Given the description of an element on the screen output the (x, y) to click on. 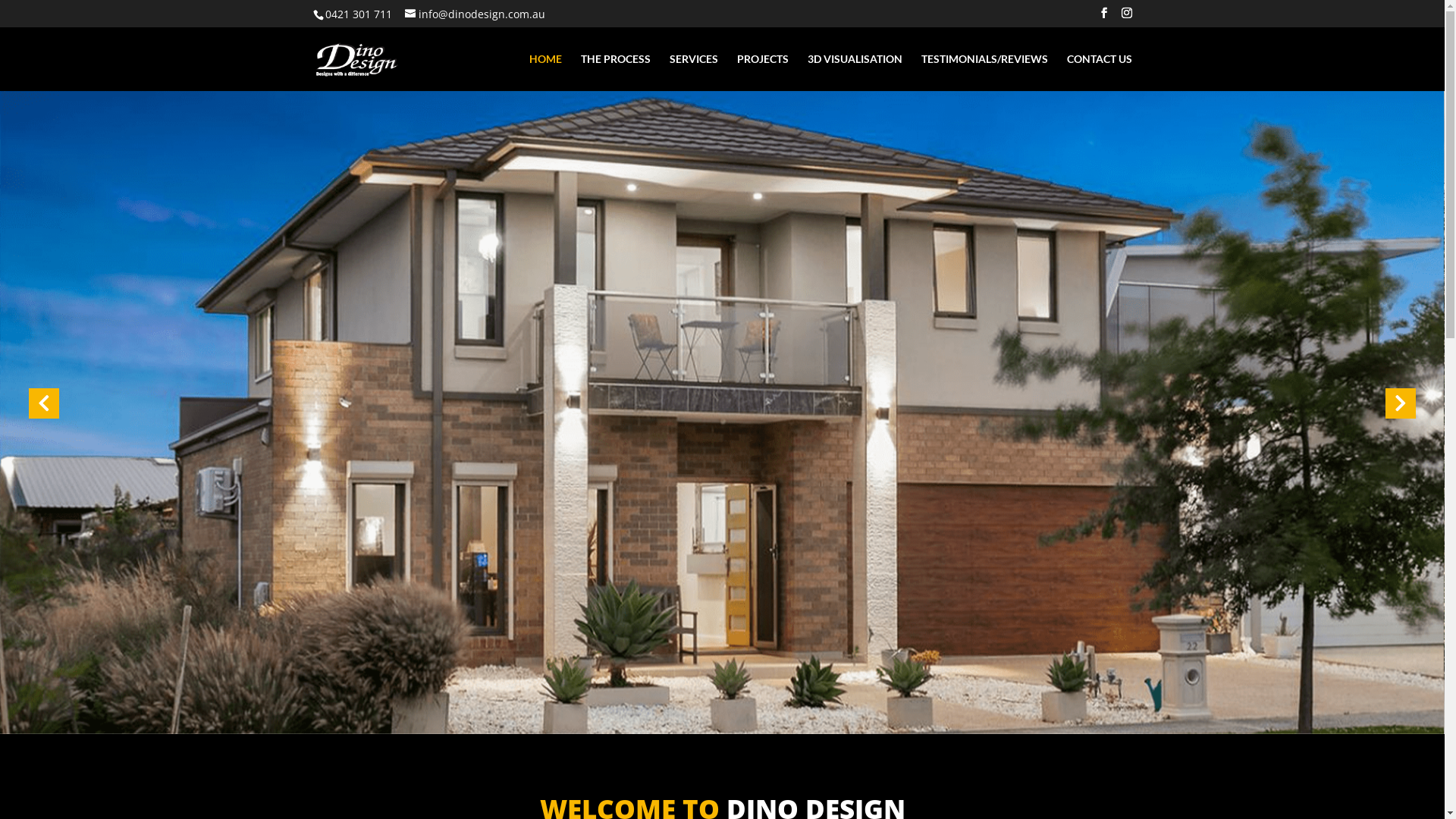
CONTACT US Element type: text (1098, 72)
TESTIMONIALS/REVIEWS Element type: text (983, 72)
3D VISUALISATION Element type: text (853, 72)
PROJECTS Element type: text (762, 72)
info@dinodesign.com.au Element type: text (474, 13)
SERVICES Element type: text (692, 72)
HOME Element type: text (545, 72)
0421 301 711 Element type: text (356, 13)
THE PROCESS Element type: text (615, 72)
